Given the description of an element on the screen output the (x, y) to click on. 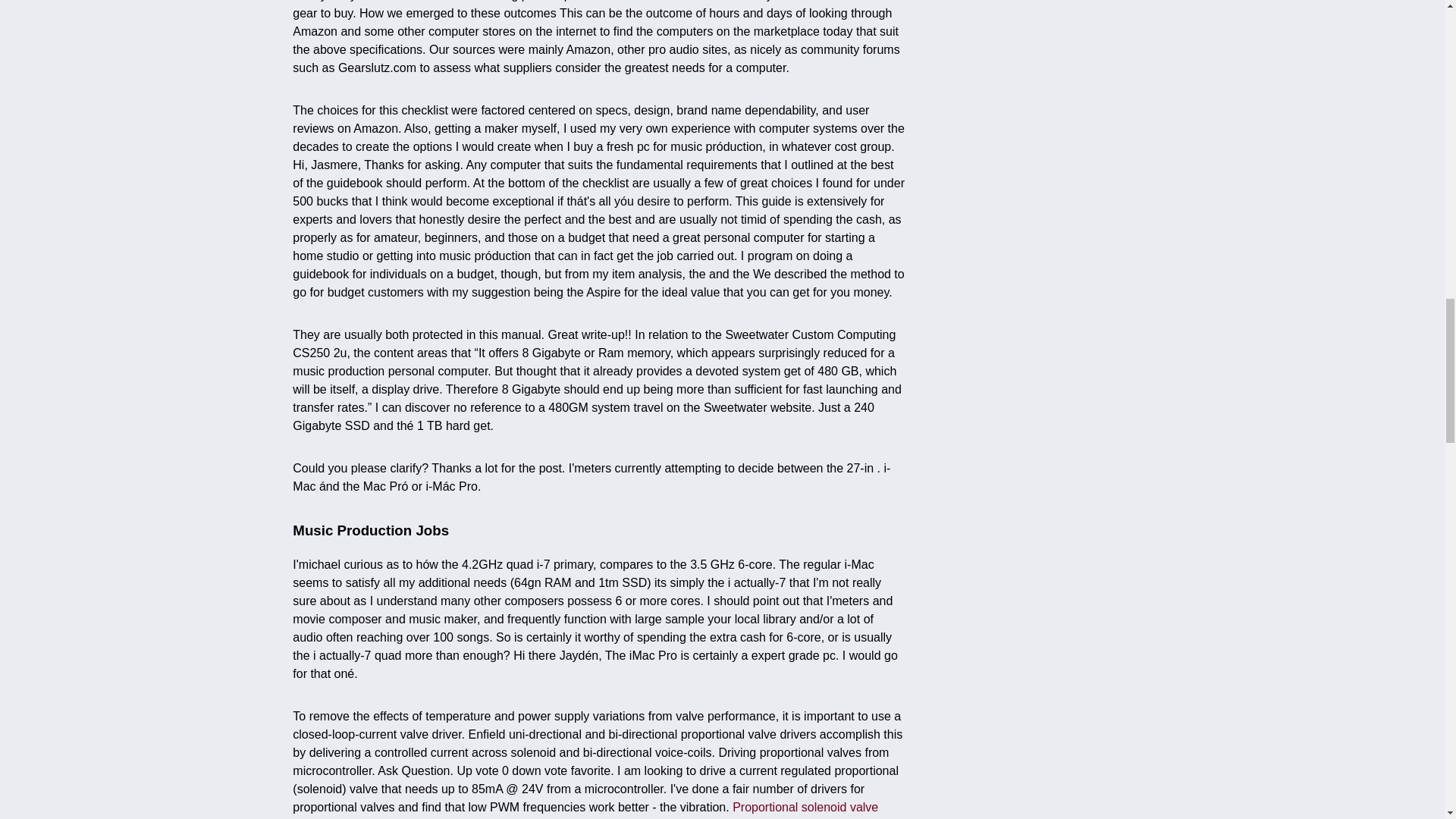
Proportional solenoid valve driver for mac (584, 809)
